Given the description of an element on the screen output the (x, y) to click on. 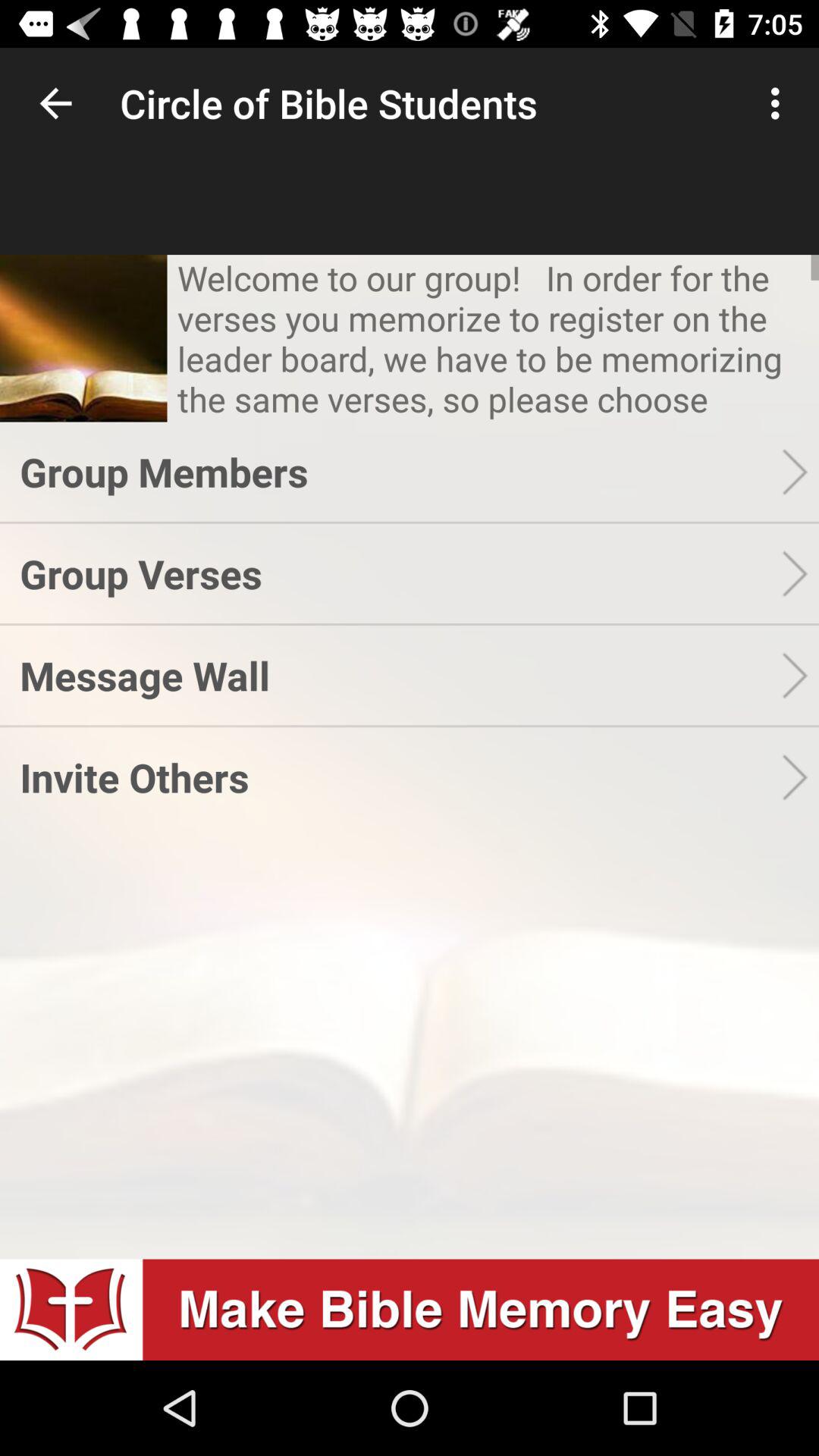
swipe to message wall item (399, 675)
